Given the description of an element on the screen output the (x, y) to click on. 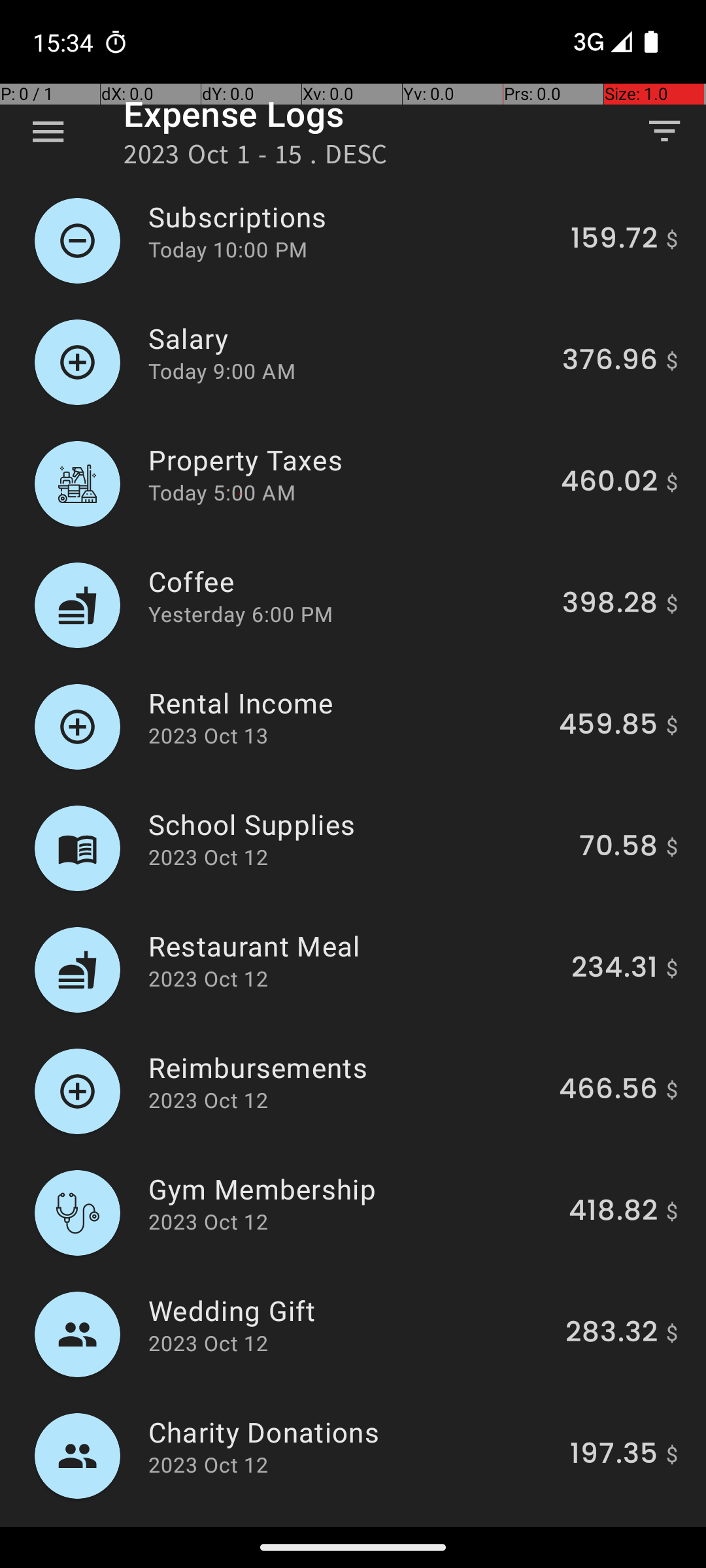
2023 Oct 1 - 15 . DESC Element type: android.widget.TextView (255, 157)
159.72 Element type: android.widget.TextView (614, 240)
Salary Element type: android.widget.TextView (347, 337)
376.96 Element type: android.widget.TextView (609, 362)
Property Taxes Element type: android.widget.TextView (346, 459)
460.02 Element type: android.widget.TextView (609, 483)
Yesterday 6:00 PM Element type: android.widget.TextView (240, 613)
398.28 Element type: android.widget.TextView (609, 605)
459.85 Element type: android.widget.TextView (608, 726)
School Supplies Element type: android.widget.TextView (355, 823)
70.58 Element type: android.widget.TextView (618, 848)
Restaurant Meal Element type: android.widget.TextView (351, 945)
234.31 Element type: android.widget.TextView (614, 969)
Reimbursements Element type: android.widget.TextView (345, 1066)
466.56 Element type: android.widget.TextView (608, 1091)
Gym Membership Element type: android.widget.TextView (350, 1188)
418.82 Element type: android.widget.TextView (613, 1212)
283.32 Element type: android.widget.TextView (611, 1334)
197.35 Element type: android.widget.TextView (613, 1455)
